Given the description of an element on the screen output the (x, y) to click on. 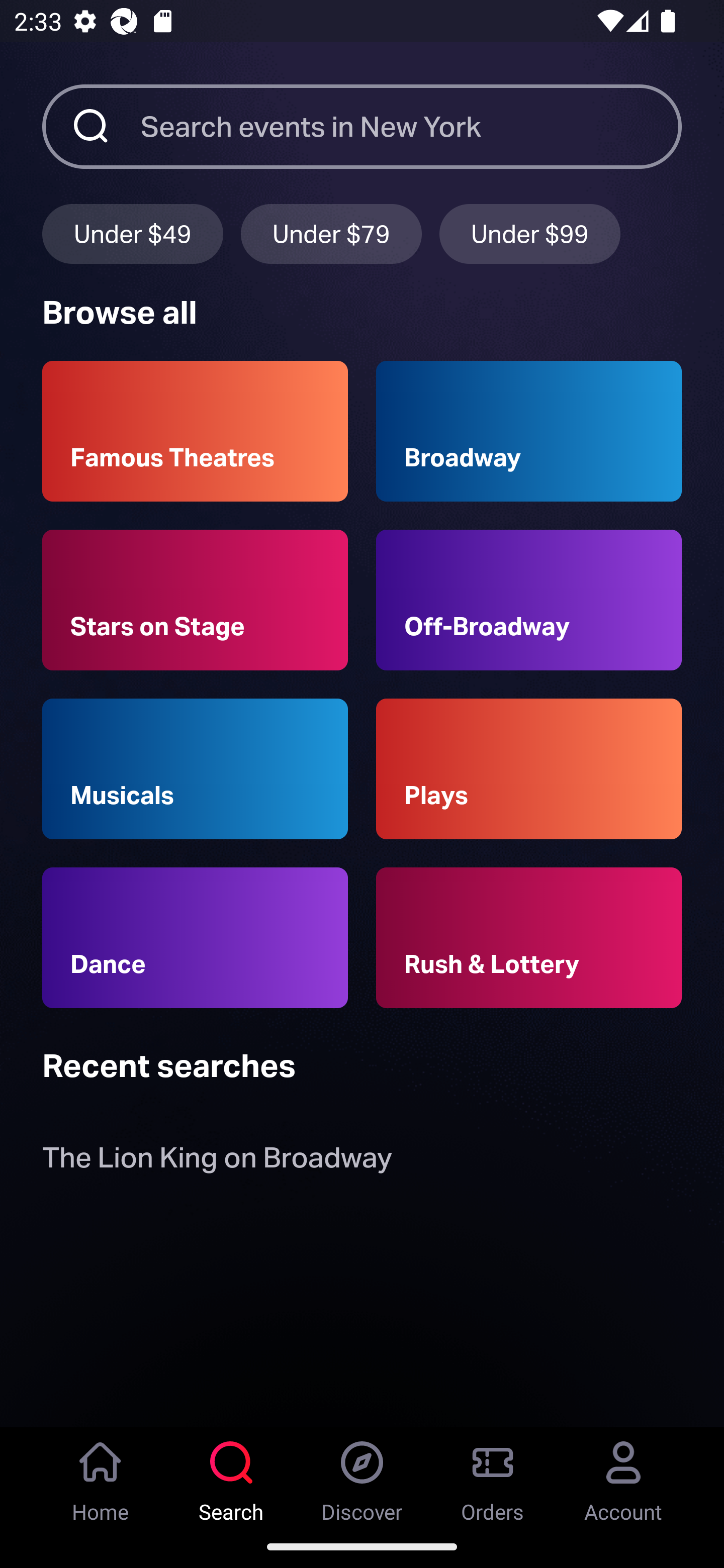
Search events in New York (411, 126)
Under $49 (131, 233)
Under $79 (331, 233)
Under $99 (529, 233)
Famous Theatres (194, 430)
Broadway (528, 430)
Stars on Stage (194, 600)
Off-Broadway (528, 600)
Musicals (194, 768)
Plays (528, 768)
Dance (194, 937)
Rush & Lottery (528, 937)
The Lion King on Broadway (216, 1161)
Home (100, 1475)
Discover (361, 1475)
Orders (492, 1475)
Account (623, 1475)
